Given the description of an element on the screen output the (x, y) to click on. 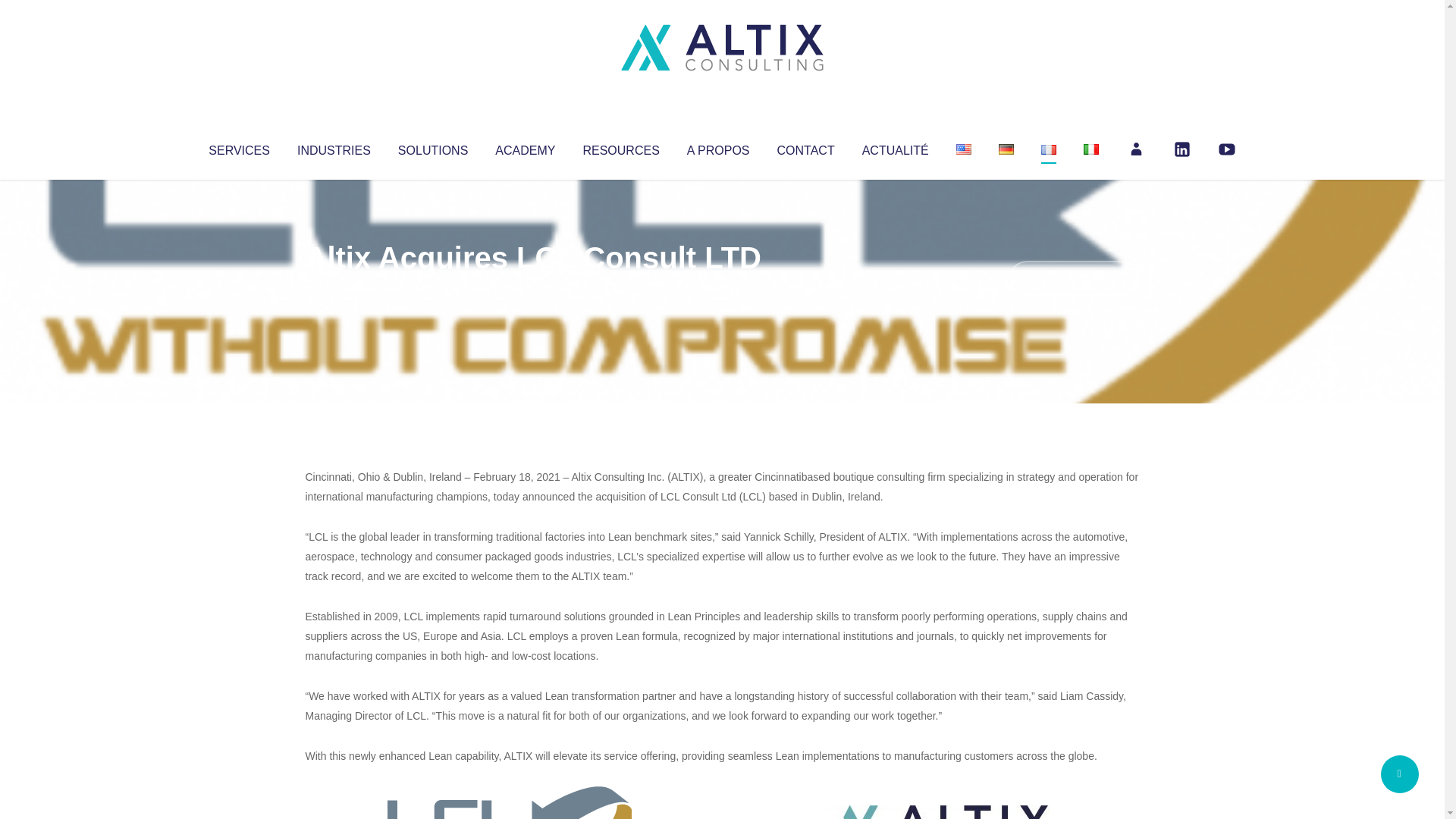
Altix (333, 287)
Uncategorized (530, 287)
SOLUTIONS (432, 146)
RESOURCES (620, 146)
ACADEMY (524, 146)
SERVICES (238, 146)
A PROPOS (718, 146)
Articles par Altix (333, 287)
No Comments (1073, 278)
INDUSTRIES (334, 146)
